Given the description of an element on the screen output the (x, y) to click on. 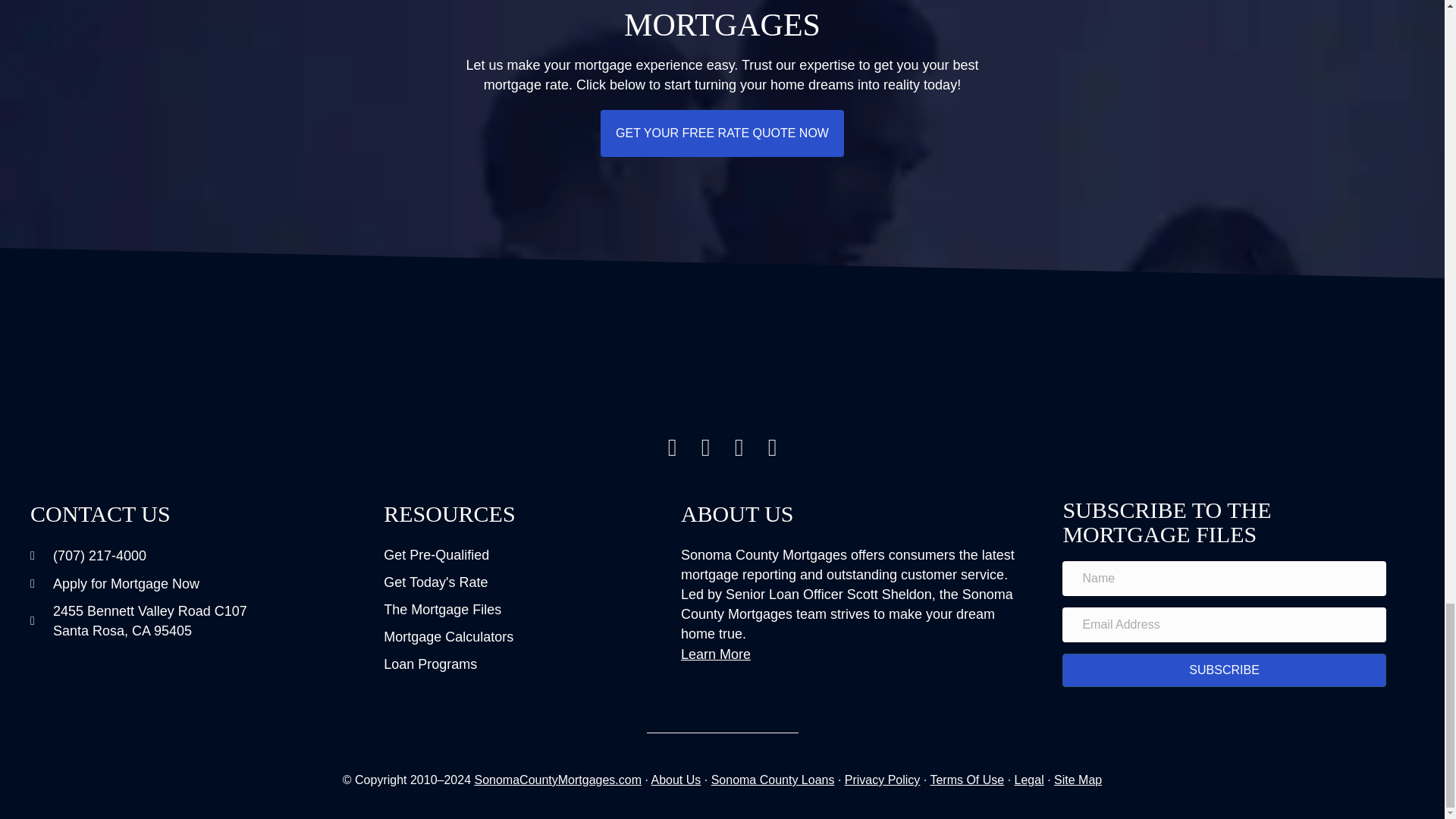
LinkedIn (773, 447)
Facebook (706, 447)
Sonoma County Mortgages Scott Sheldon Senior Loan Officer (721, 374)
Instagram (672, 447)
Google Plus (739, 447)
